Given the description of an element on the screen output the (x, y) to click on. 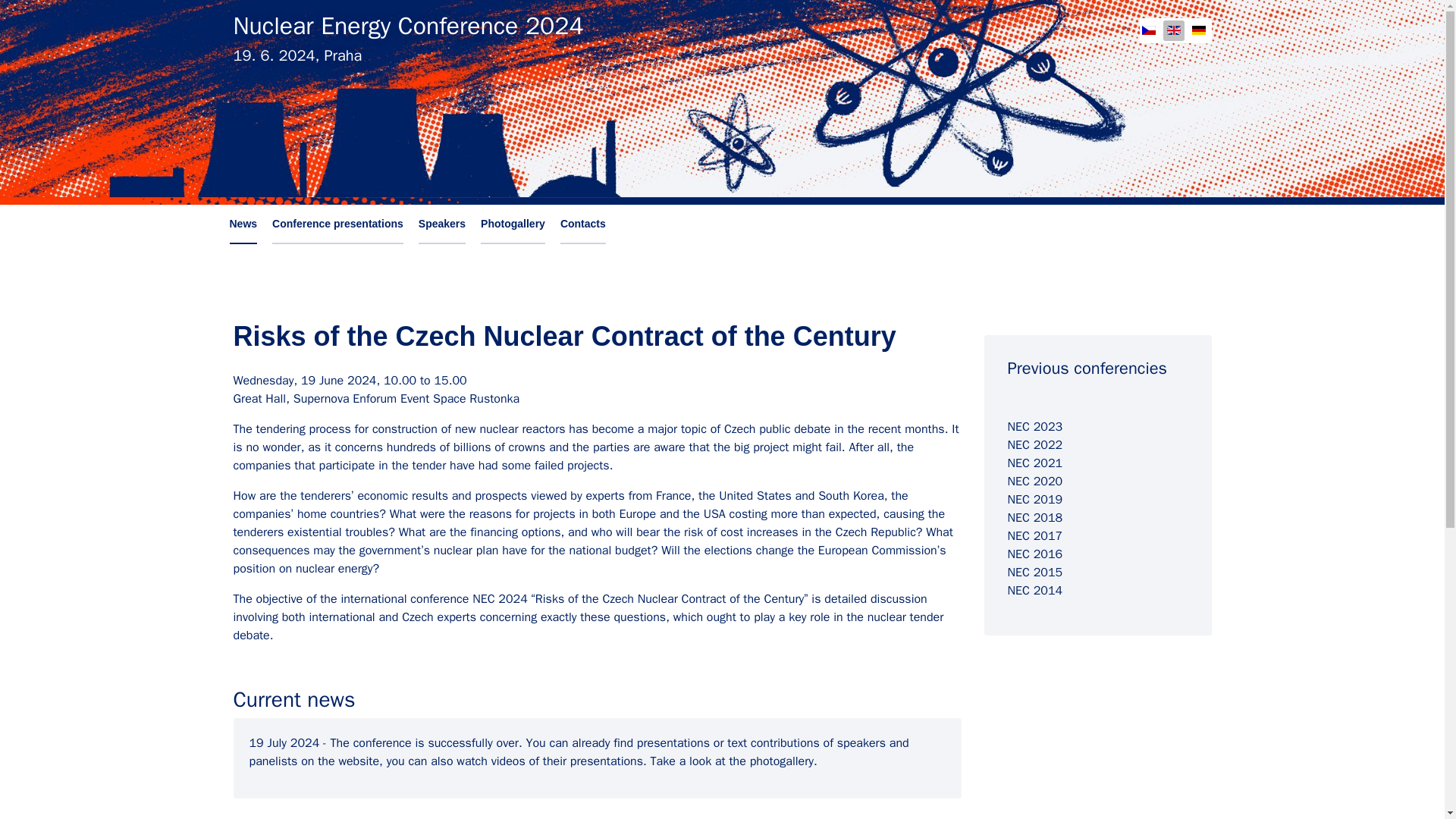
NEC 2015 (1034, 572)
Photogallery (512, 224)
NEC 2017 (1034, 535)
photogallery (781, 761)
Nuclear Energy Conference 2024 (407, 25)
NEC 2018 (1034, 517)
NEC 2014 (1034, 590)
videos of their presentations (567, 761)
NEC 2020 (1034, 481)
Conference presentations (337, 224)
